Given the description of an element on the screen output the (x, y) to click on. 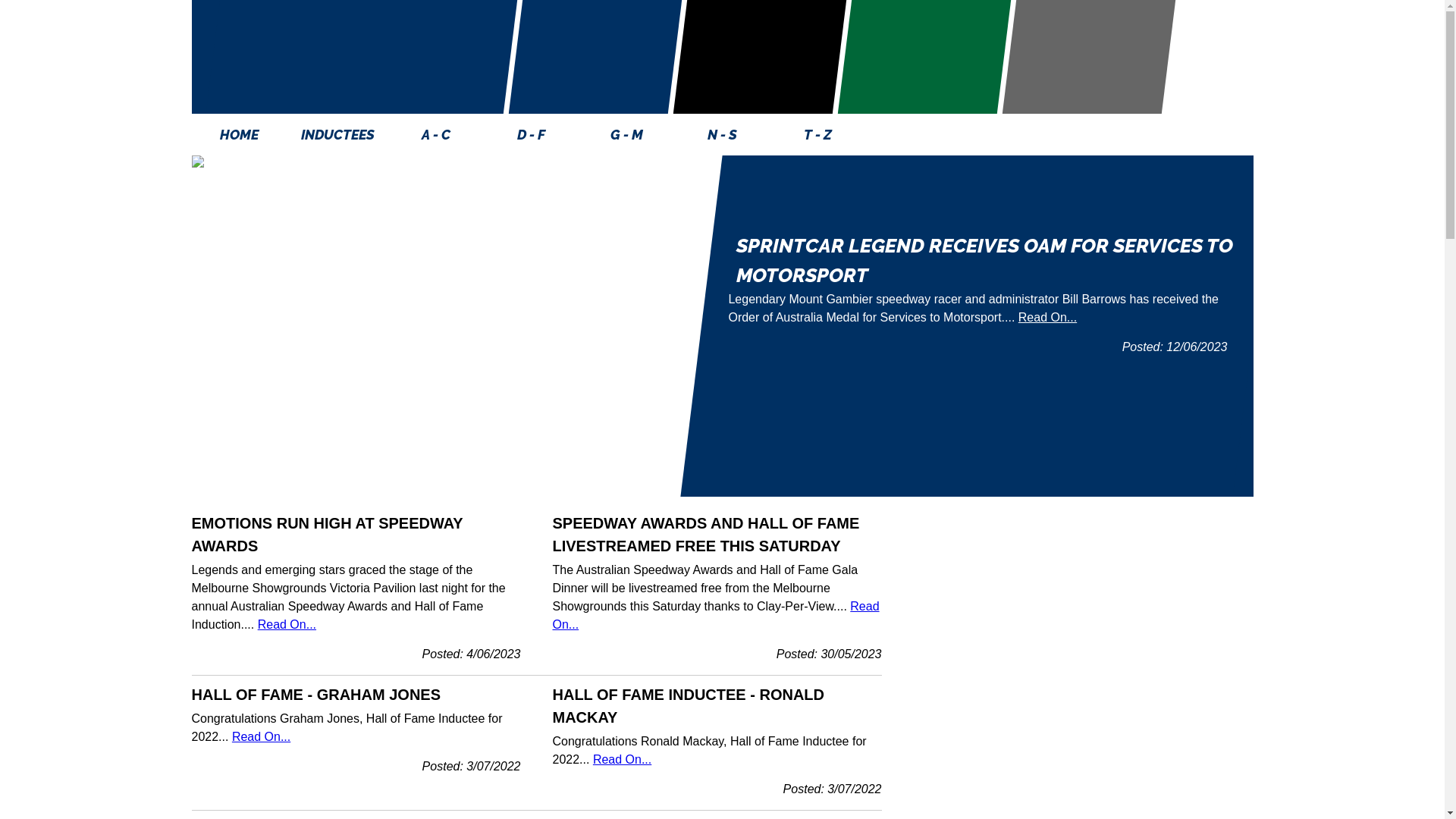
Read On... Element type: text (261, 736)
A - C Element type: text (435, 134)
G - M Element type: text (626, 134)
Read On... Element type: text (286, 624)
Read On... Element type: text (622, 759)
Read On... Element type: text (715, 614)
EMOTIONS RUN HIGH AT SPEEDWAY AWARDS Element type: text (326, 534)
HOME Element type: text (238, 134)
INDUCTEES Element type: text (336, 134)
HALL OF FAME - GRAHAM JONES Element type: text (315, 694)
Australian Speedway Hall of Fame Element type: hover (360, 56)
Speedway Australia Element type: hover (594, 56)
N - S Element type: text (722, 134)
HALL OF FAME INDUCTEE - RONALD MACKAY Element type: text (688, 705)
Skip to content Element type: text (0, 113)
SPRINTCAR LEGEND RECEIVES OAM FOR SERVICES TO MOTORSPORT Element type: text (983, 260)
T - Z Element type: text (818, 134)
Australian Speedway Awards Element type: hover (1087, 56)
Speedway Australia Rising Star Element type: hover (924, 56)
D - F Element type: text (531, 134)
Read On... Element type: text (1046, 316)
World Series Sprintcars Element type: hover (758, 56)
